Given the description of an element on the screen output the (x, y) to click on. 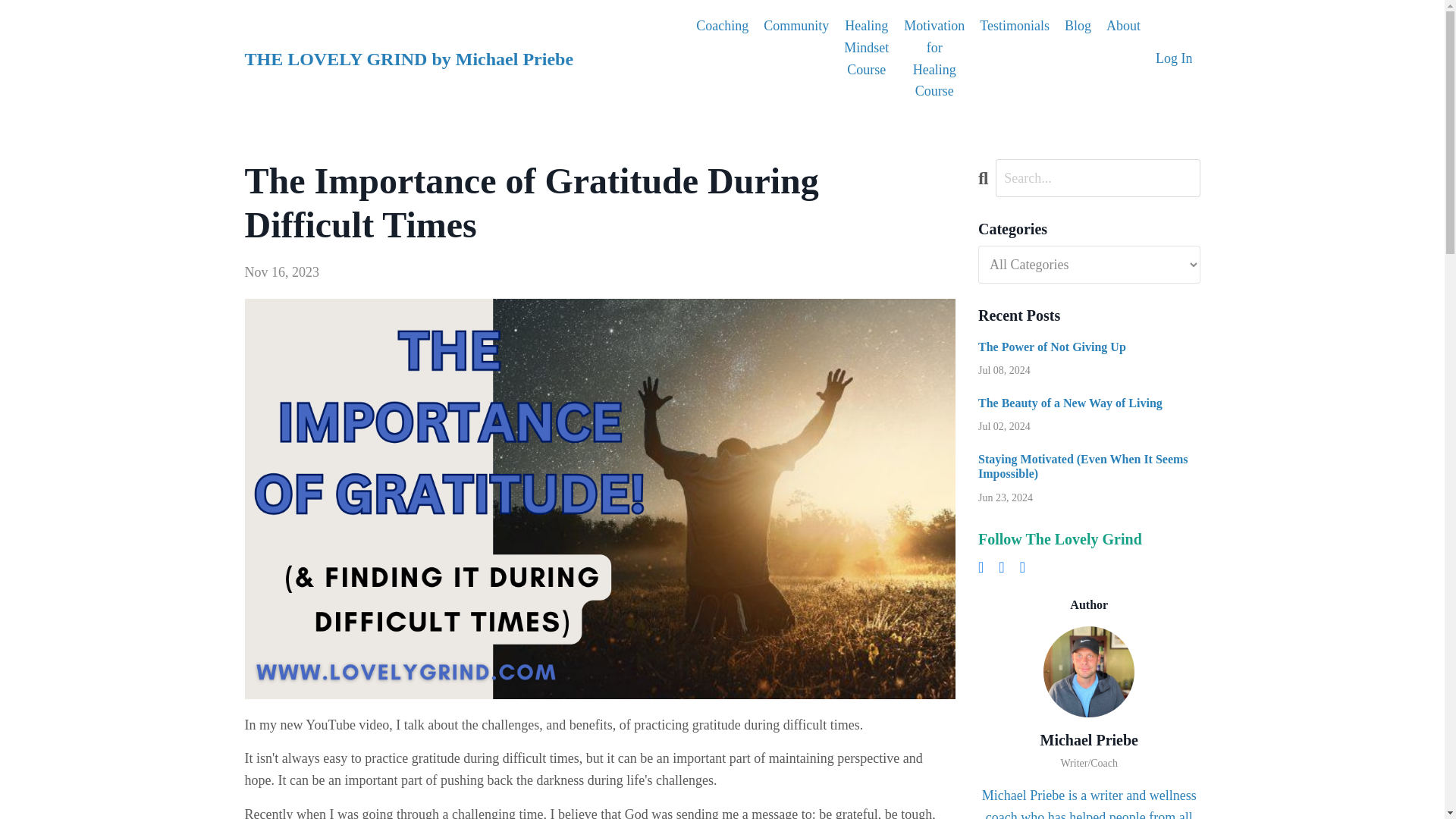
Log In (1174, 58)
THE LOVELY GRIND by Michael Priebe (408, 58)
The Beauty of a New Way of Living (1088, 402)
The Power of Not Giving Up (1088, 346)
